Given the description of an element on the screen output the (x, y) to click on. 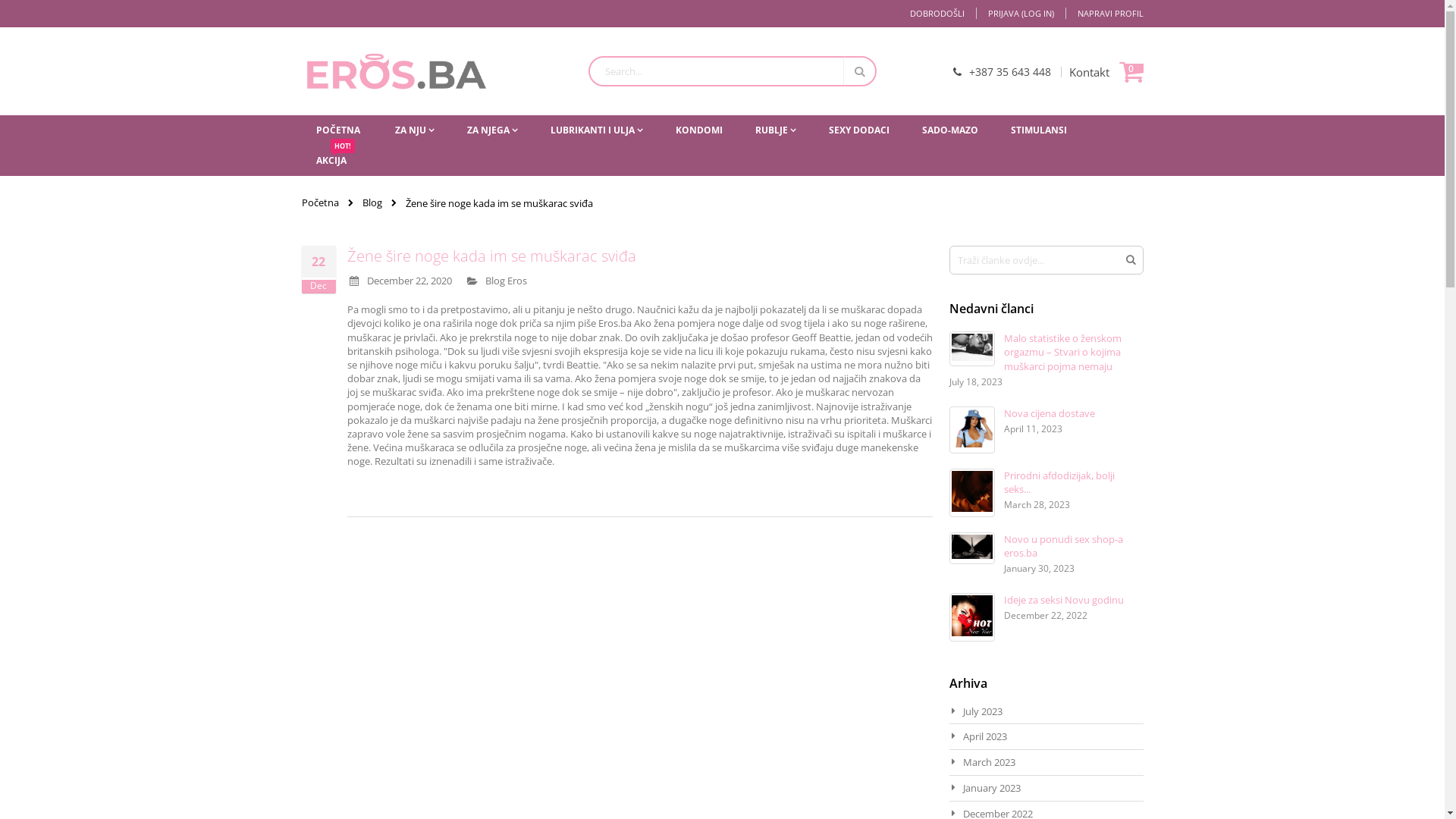
Nova cijena dostave Element type: text (1049, 413)
Kontakt Element type: text (1085, 71)
Ideje za seksi Novu godinu Element type: text (1063, 599)
LUBRIKANTI I ULJA Element type: text (596, 130)
KONDOMI Element type: text (698, 130)
Blog Element type: text (372, 202)
RUBLJE Element type: text (775, 130)
Eros.ba -  za intimne trenutke Element type: hover (396, 70)
PRIJAVA (LOG IN) Element type: text (1019, 12)
Blog Eros Element type: text (506, 280)
NAPRAVI PROFIL Element type: text (1103, 12)
ZA NJU Element type: text (413, 130)
SADO-MAZO Element type: text (949, 130)
ZA NJEGA Element type: text (492, 130)
Novo u ponudi sex shop-a eros.ba Element type: text (1063, 545)
April 2023 Element type: text (985, 736)
AKCIJA
HOT! Element type: text (330, 160)
STIMULANSI Element type: text (1037, 130)
March 2023 Element type: text (989, 761)
January 2023 Element type: text (991, 787)
Moja Korpa
0 Element type: text (1131, 71)
July 2023 Element type: text (982, 711)
Skip to Content Element type: text (300, 6)
Prirodni afdodizijak, bolji seks... Element type: text (1059, 481)
SEXY DODACI Element type: text (857, 130)
